Given the description of an element on the screen output the (x, y) to click on. 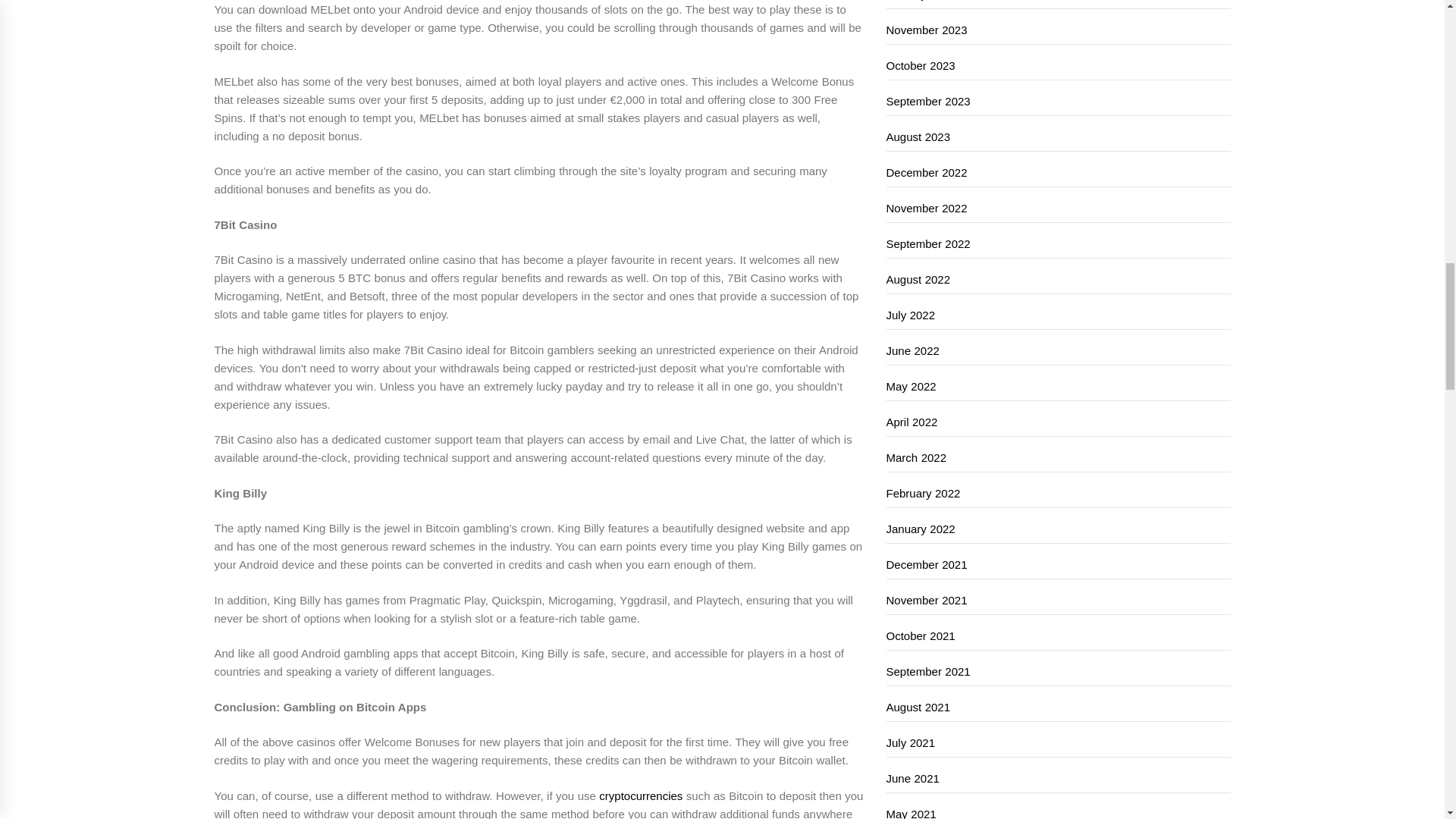
cryptocurrencies (640, 795)
